Given the description of an element on the screen output the (x, y) to click on. 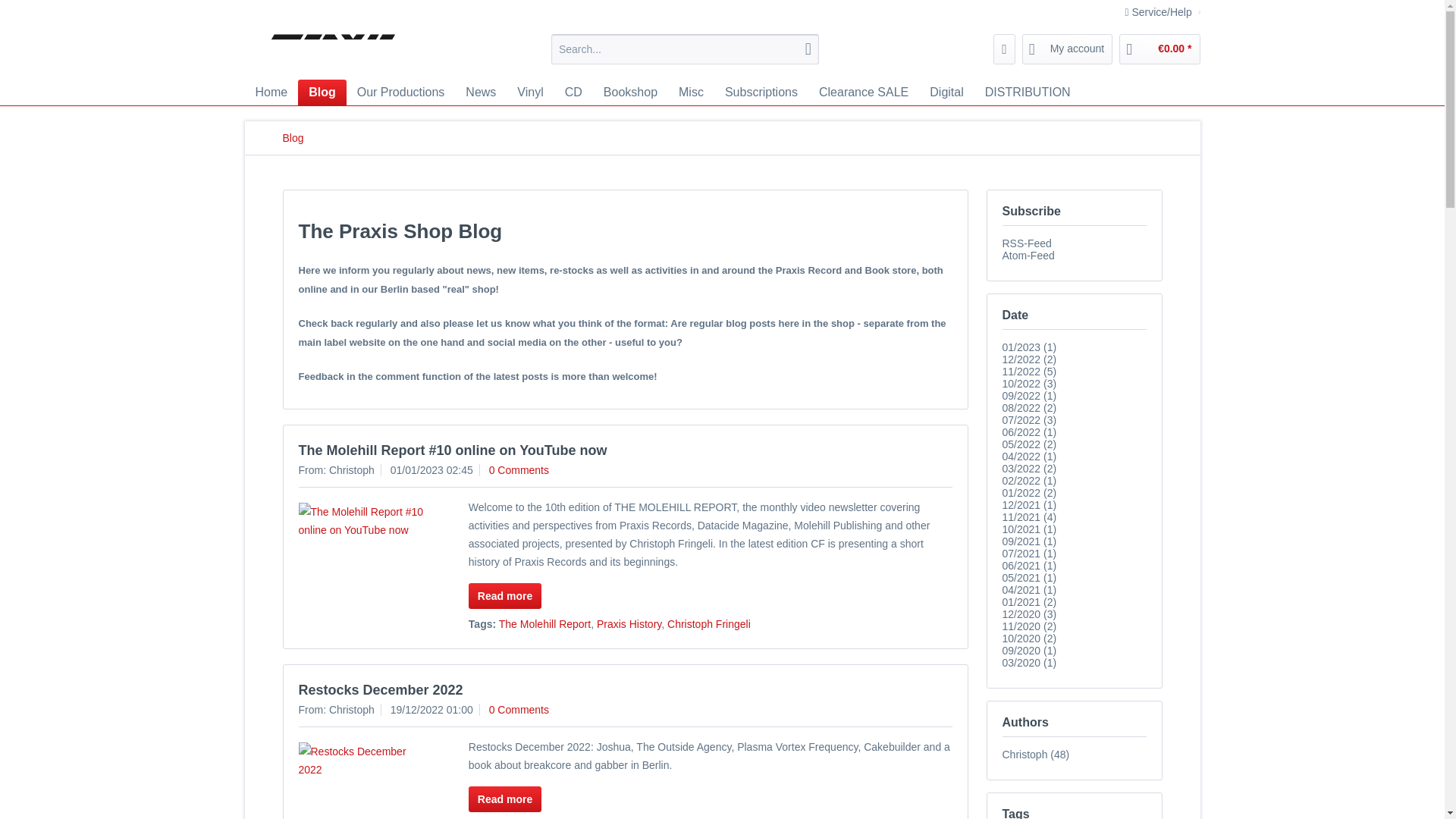
Subscriptions (761, 92)
My account (1067, 49)
Bookshop (630, 92)
Misc (691, 92)
Clearance SALE (863, 92)
Blog (322, 92)
News (480, 92)
Blog (293, 137)
CD (573, 92)
Vinyl (529, 92)
Home (271, 92)
My account (1067, 49)
Our Productions (400, 92)
DISTRIBUTION (1027, 92)
Digital (946, 92)
